Given the description of an element on the screen output the (x, y) to click on. 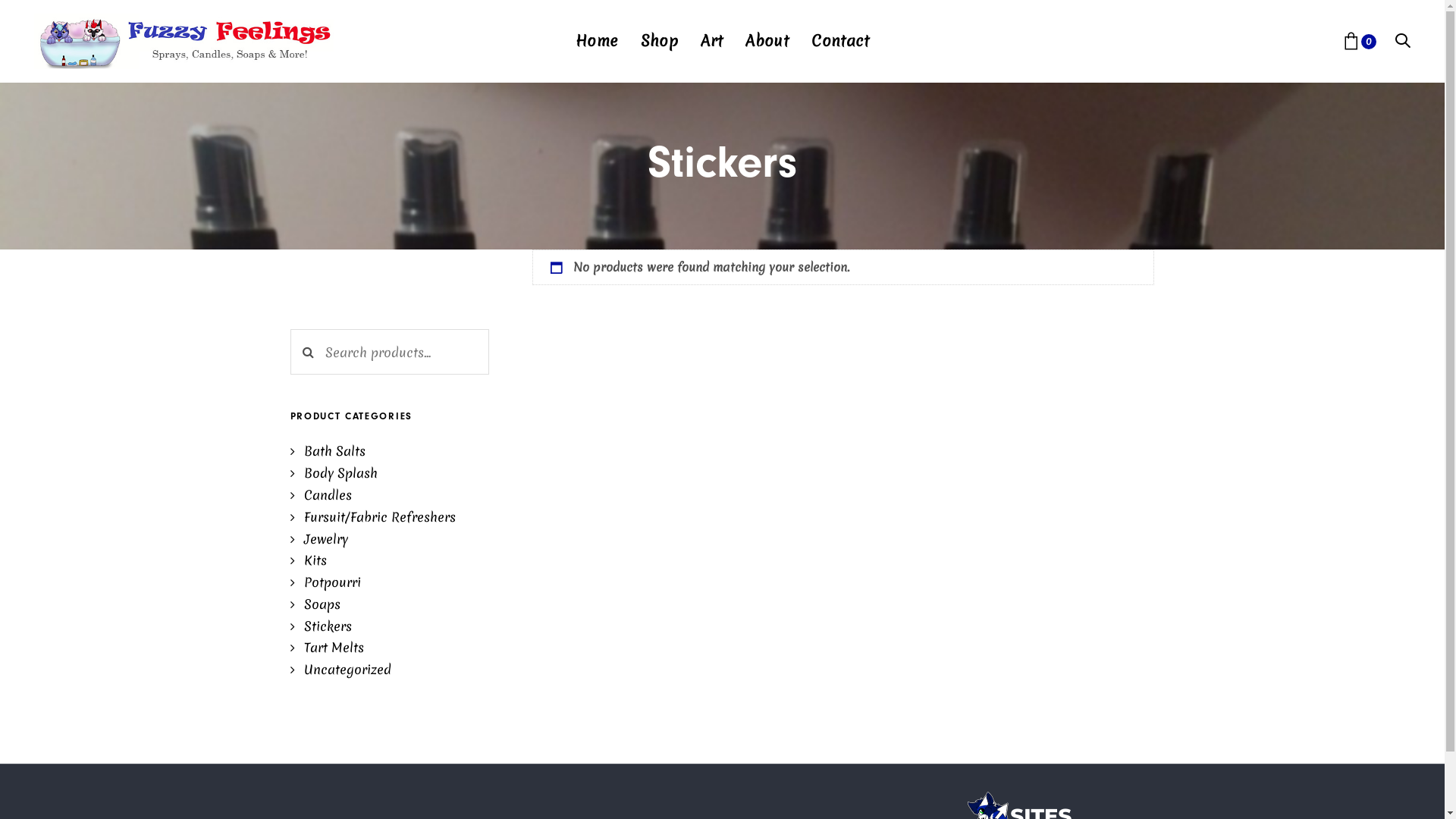
Tart Melts Element type: text (326, 646)
Contact Element type: text (840, 41)
Art Element type: text (711, 41)
Shop Element type: text (659, 41)
Home Element type: text (596, 41)
Uncategorized Element type: text (339, 668)
Fursuit/Fabric Refreshers Element type: text (372, 516)
Jewelry Element type: text (318, 537)
Bath Salts Element type: text (326, 450)
Candles Element type: text (320, 494)
Kits Element type: text (307, 559)
Stickers Element type: text (320, 625)
Search Element type: text (307, 351)
Potpourri Element type: text (324, 581)
Body Splash Element type: text (332, 472)
Soaps Element type: text (314, 603)
About Element type: text (767, 41)
